Given the description of an element on the screen output the (x, y) to click on. 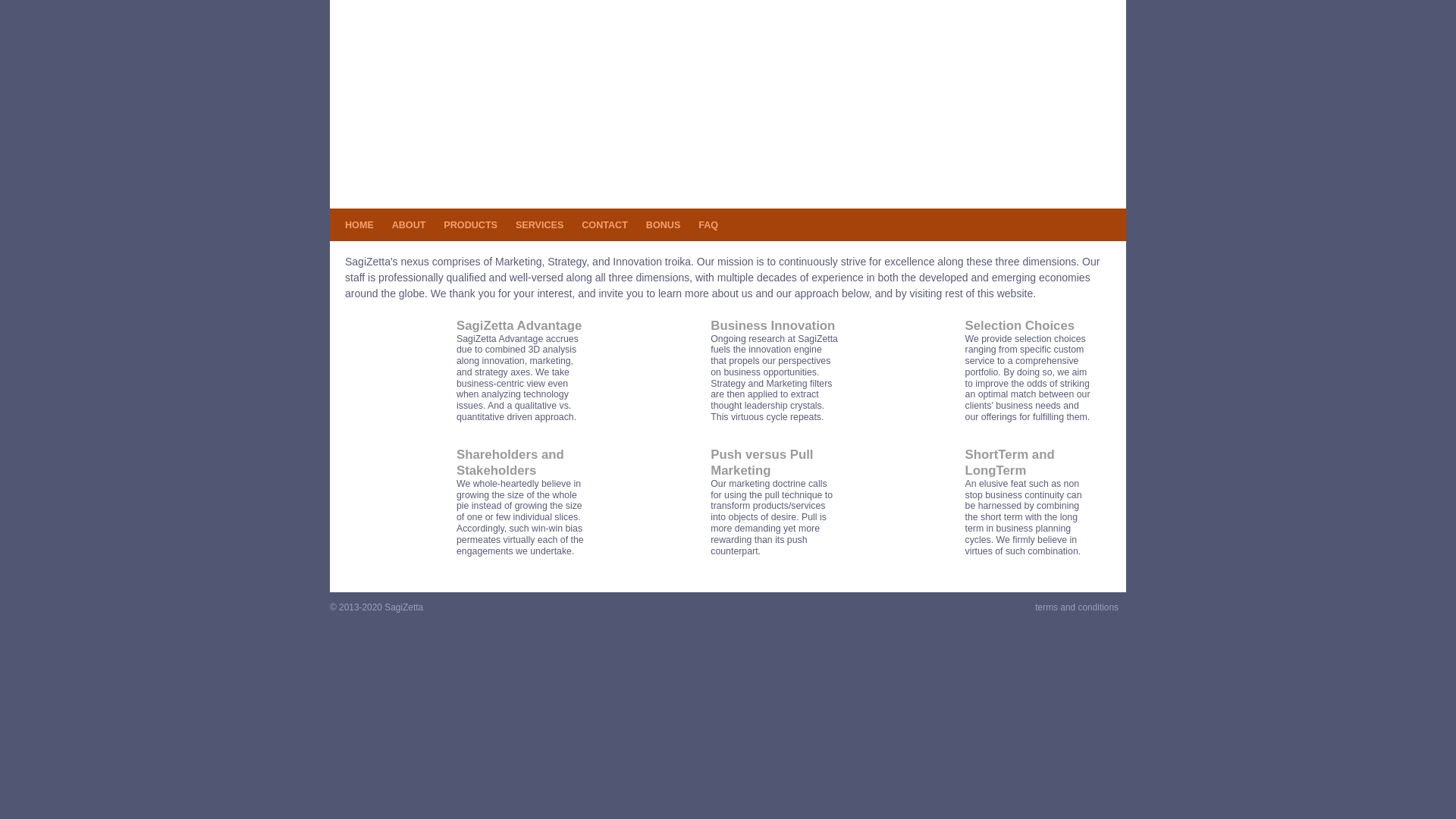
BONUS (662, 225)
HOME (359, 225)
PRODUCTS (470, 225)
SERVICES (539, 225)
FAQ (707, 225)
ABOUT (408, 225)
terms and conditions (1076, 606)
CONTACT (603, 225)
